Given the description of an element on the screen output the (x, y) to click on. 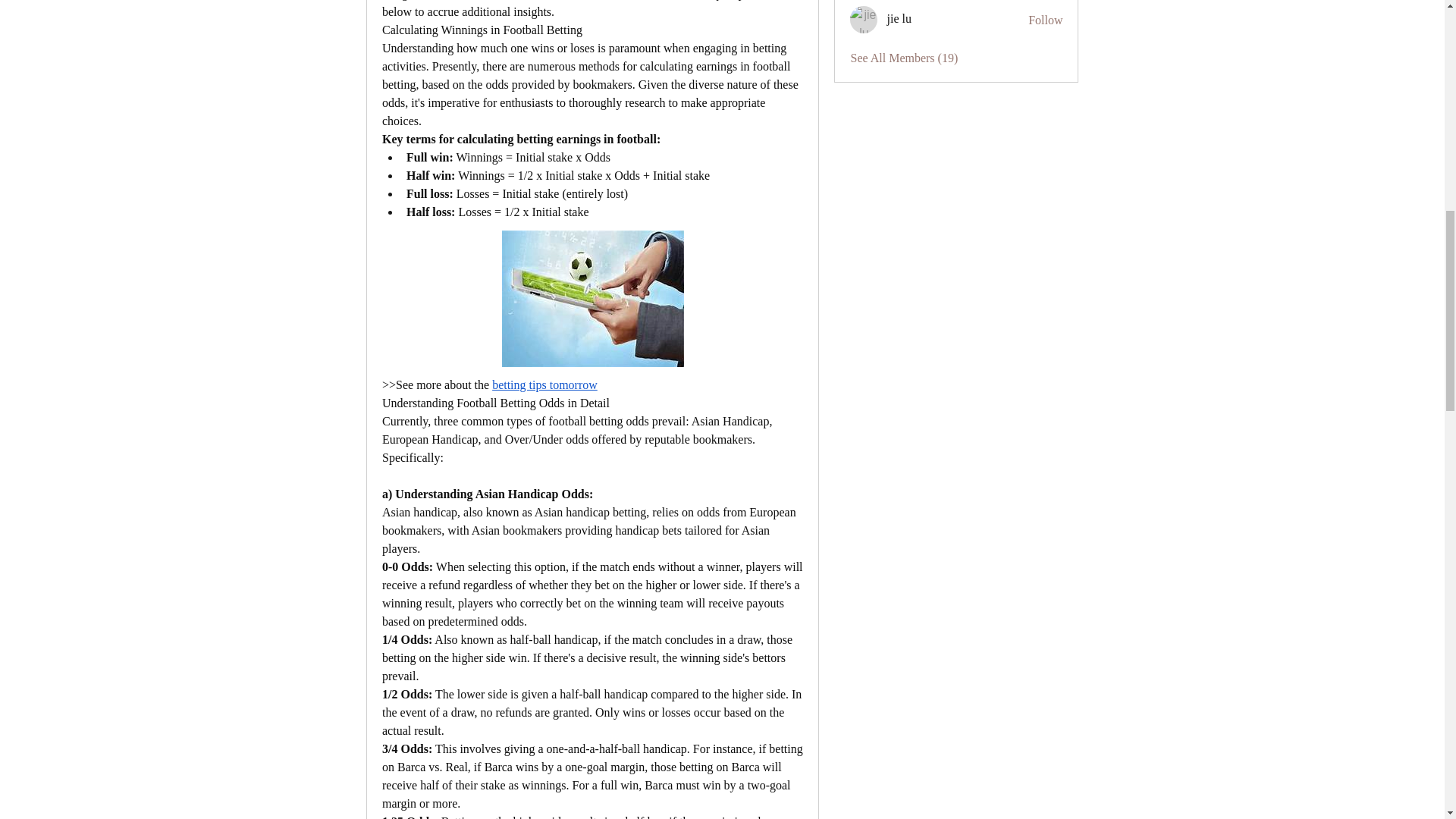
betting tips tomorrow (544, 385)
jie lu (863, 19)
Follow (1044, 20)
